Given the description of an element on the screen output the (x, y) to click on. 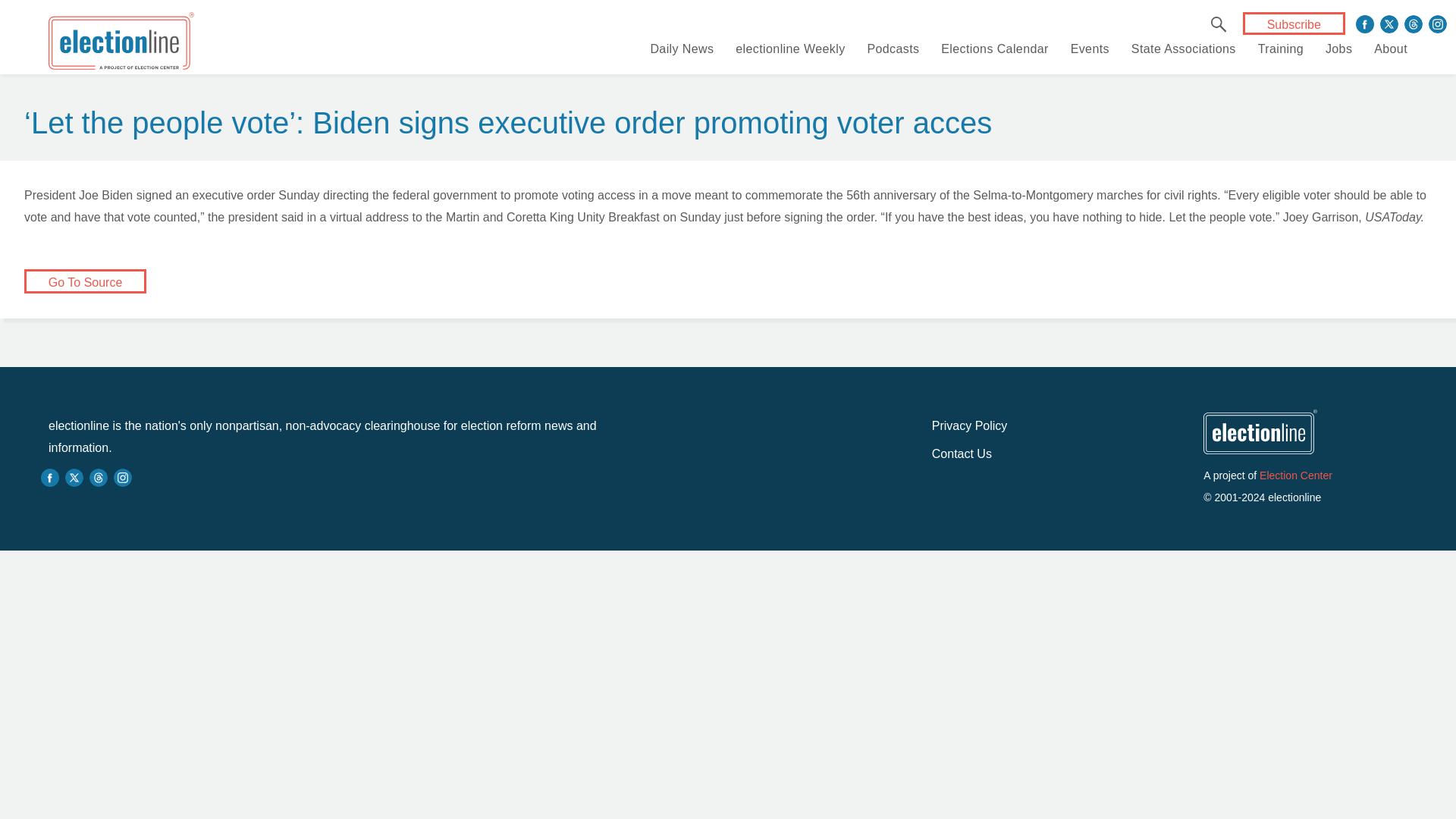
Elections Calendar (994, 48)
Events (1089, 48)
electionline (120, 44)
Twitter (1388, 24)
Privacy Policy (969, 425)
Instagram (1437, 24)
Subscribe (1294, 23)
electionline Weekly (789, 48)
Jobs (1338, 48)
Threads (1413, 24)
State Associations (1183, 48)
About (1390, 48)
Daily News (681, 48)
Training (1280, 48)
Facebook (1364, 24)
